Given the description of an element on the screen output the (x, y) to click on. 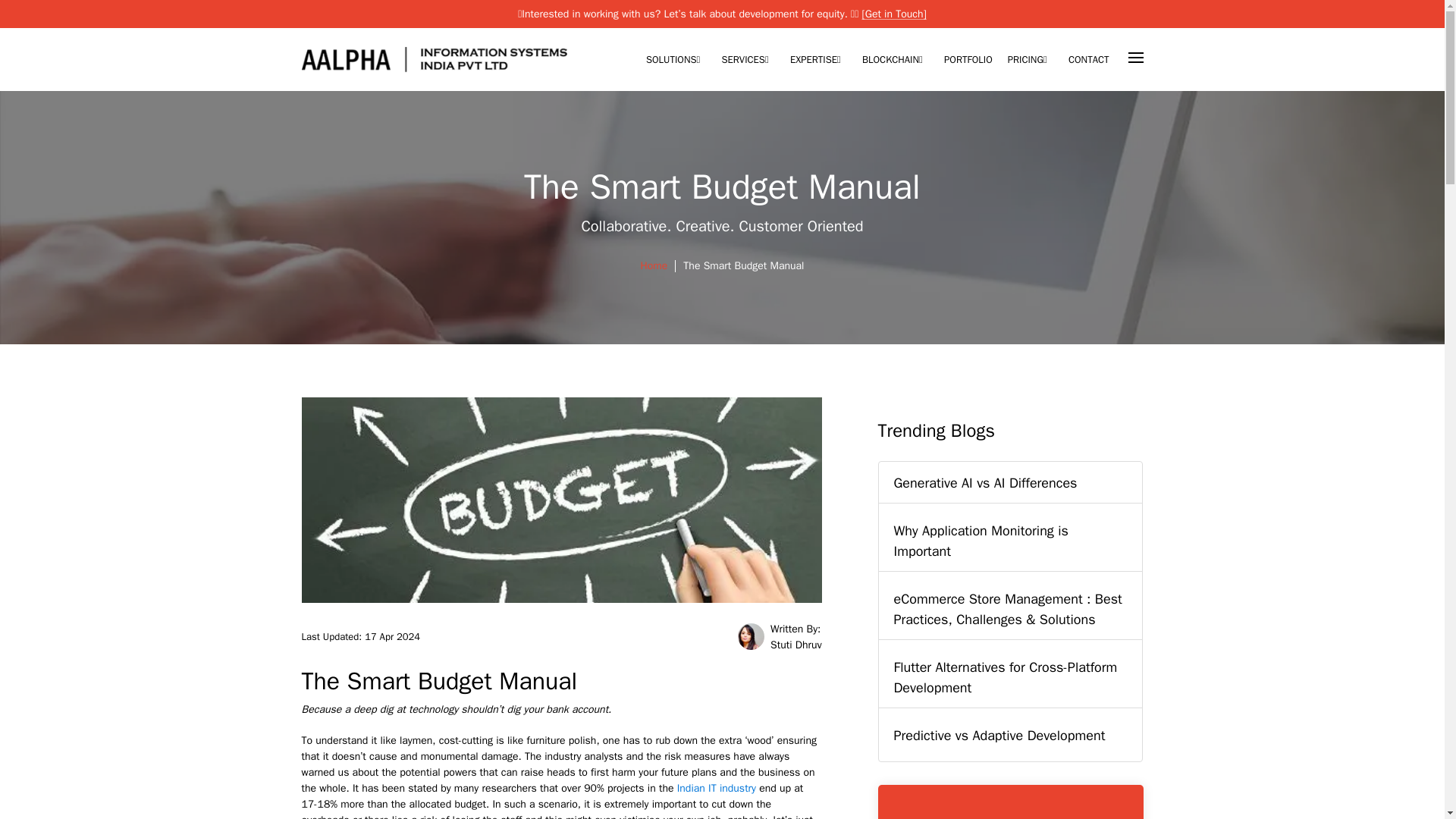
SERVICES (748, 60)
SOLUTIONS (676, 60)
